Given the description of an element on the screen output the (x, y) to click on. 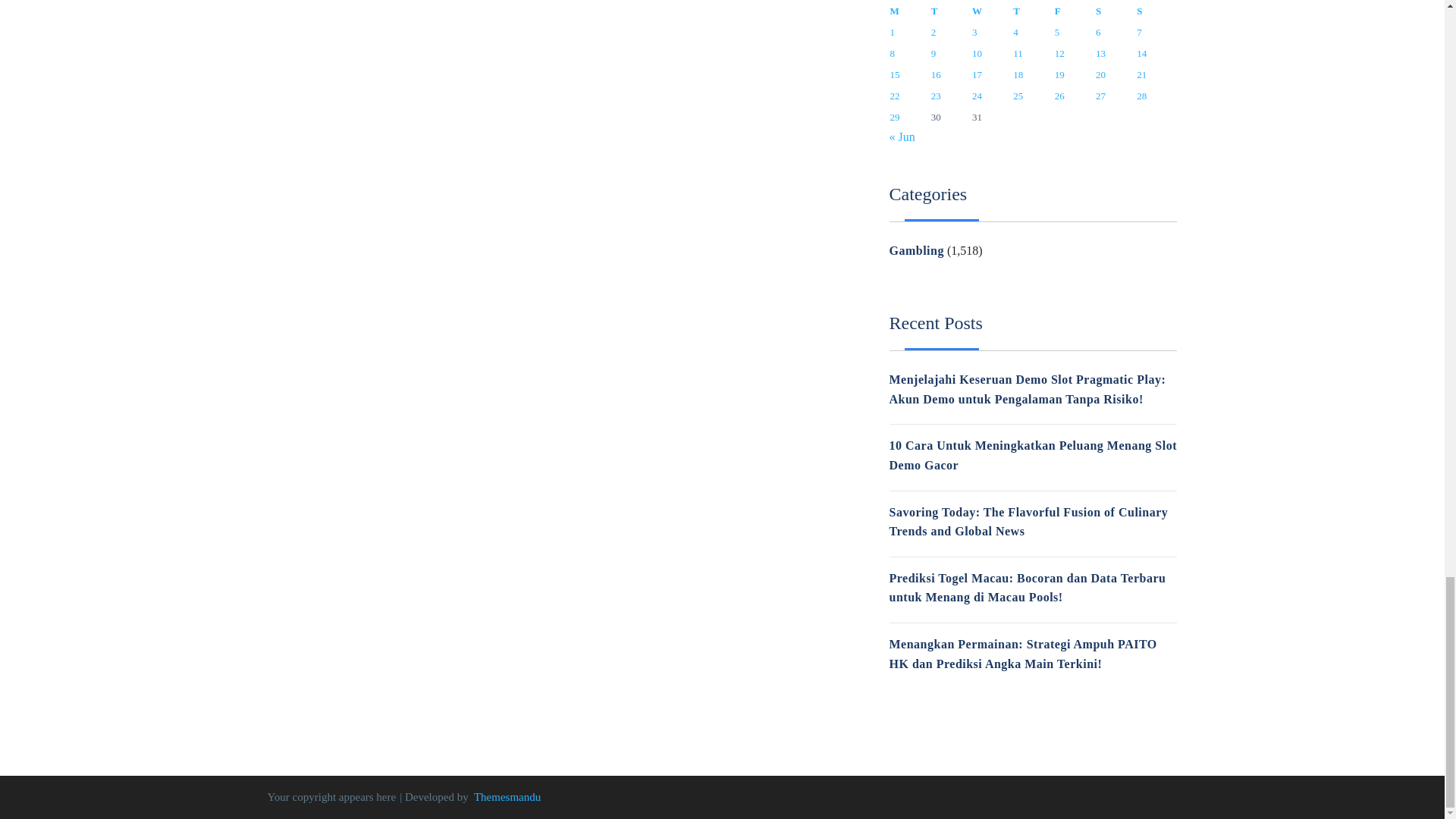
Sunday (1155, 11)
Wednesday (991, 11)
Monday (909, 11)
Thursday (1031, 11)
Friday (1074, 11)
Tuesday (950, 11)
Saturday (1114, 11)
